Given the description of an element on the screen output the (x, y) to click on. 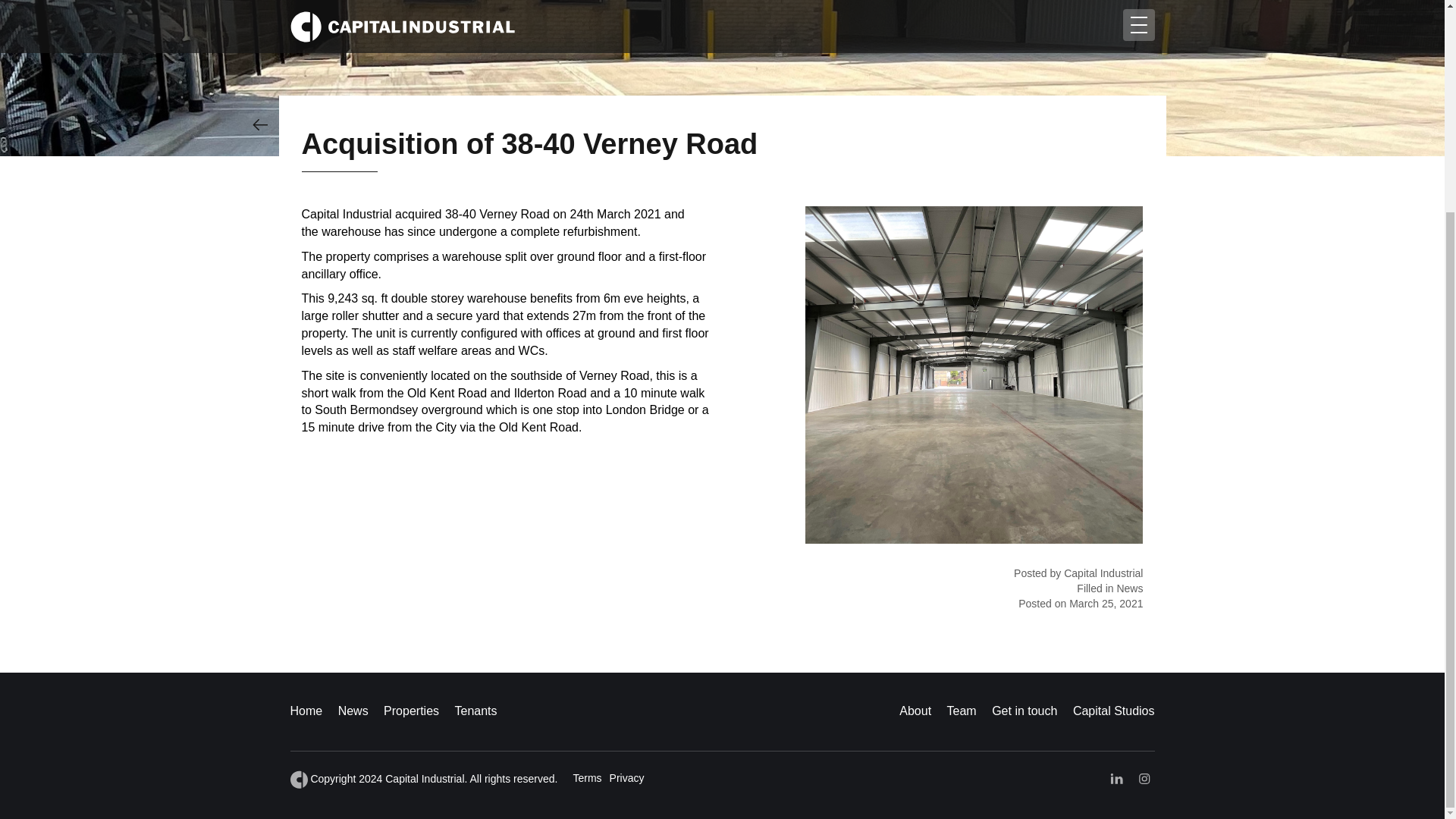
Capital Studios (1113, 710)
About (915, 710)
News (352, 710)
Terms (586, 777)
Team (961, 710)
Properties (411, 710)
Get in touch (1024, 710)
Privacy (627, 777)
Back to News (258, 123)
Tenants (475, 710)
Home (305, 710)
